Given the description of an element on the screen output the (x, y) to click on. 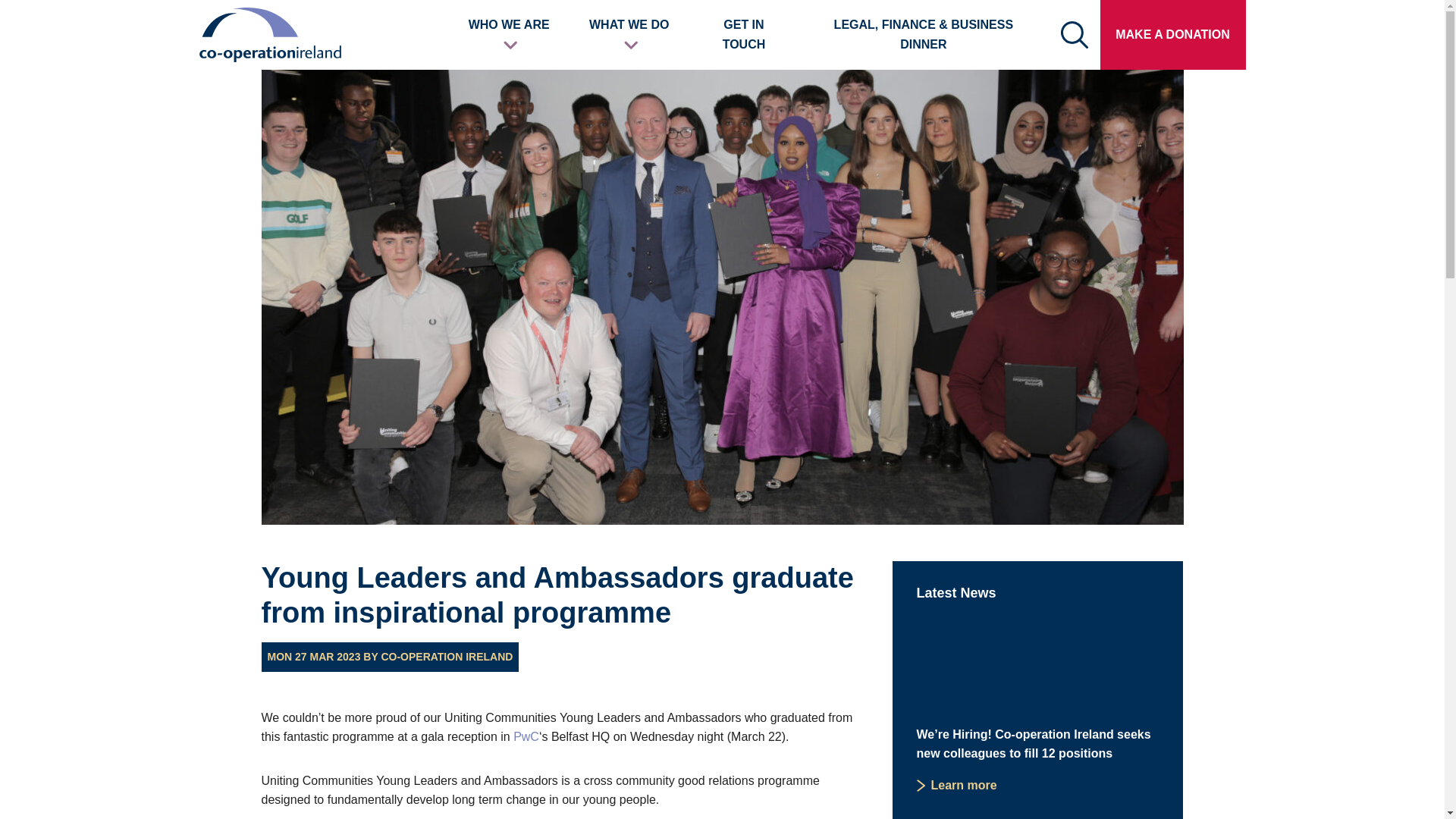
WHAT WE DO (628, 34)
WHO WE ARE (509, 34)
GET IN TOUCH (743, 34)
